Given the description of an element on the screen output the (x, y) to click on. 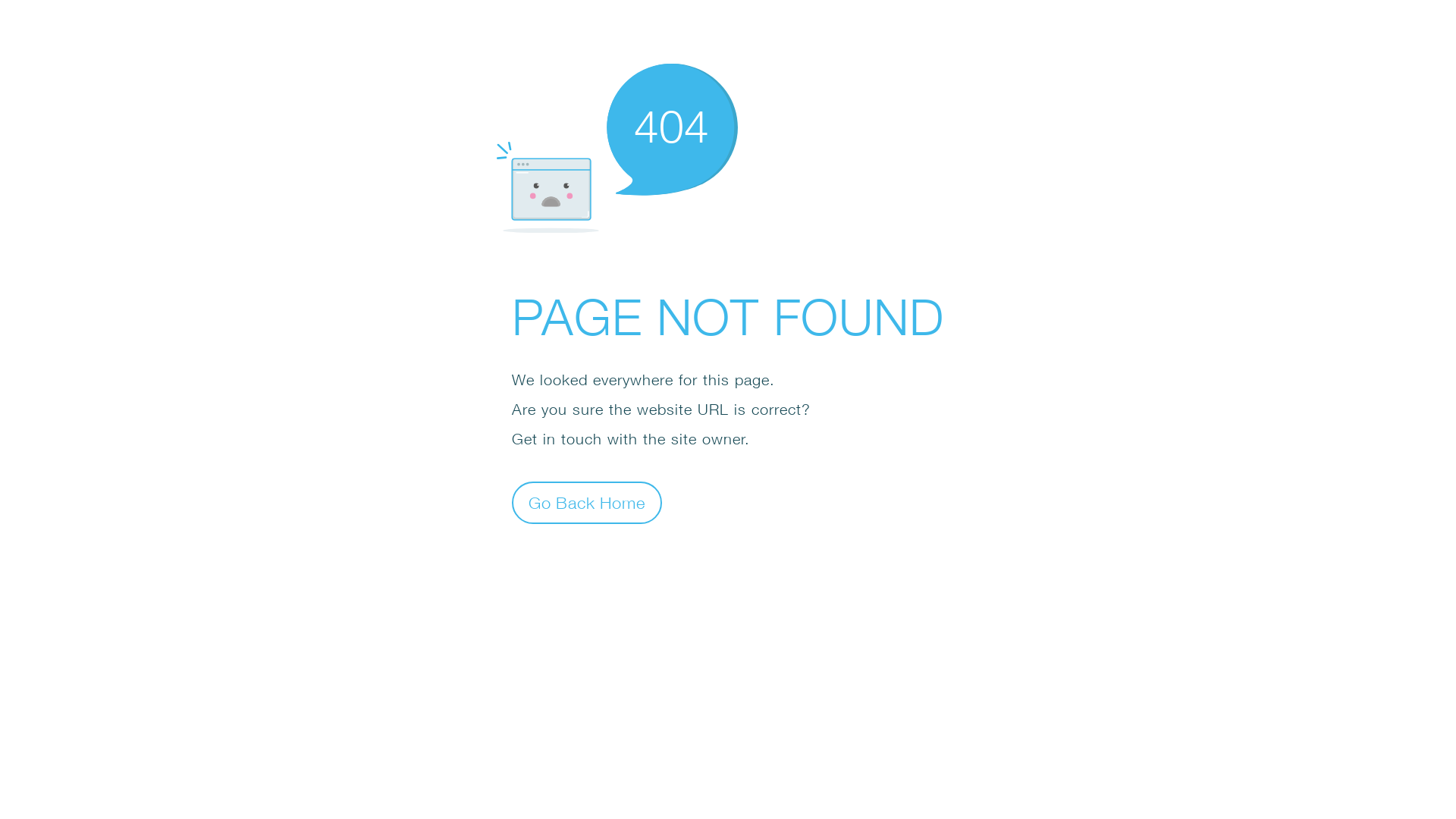
Go Back Home Element type: text (586, 502)
